Given the description of an element on the screen output the (x, y) to click on. 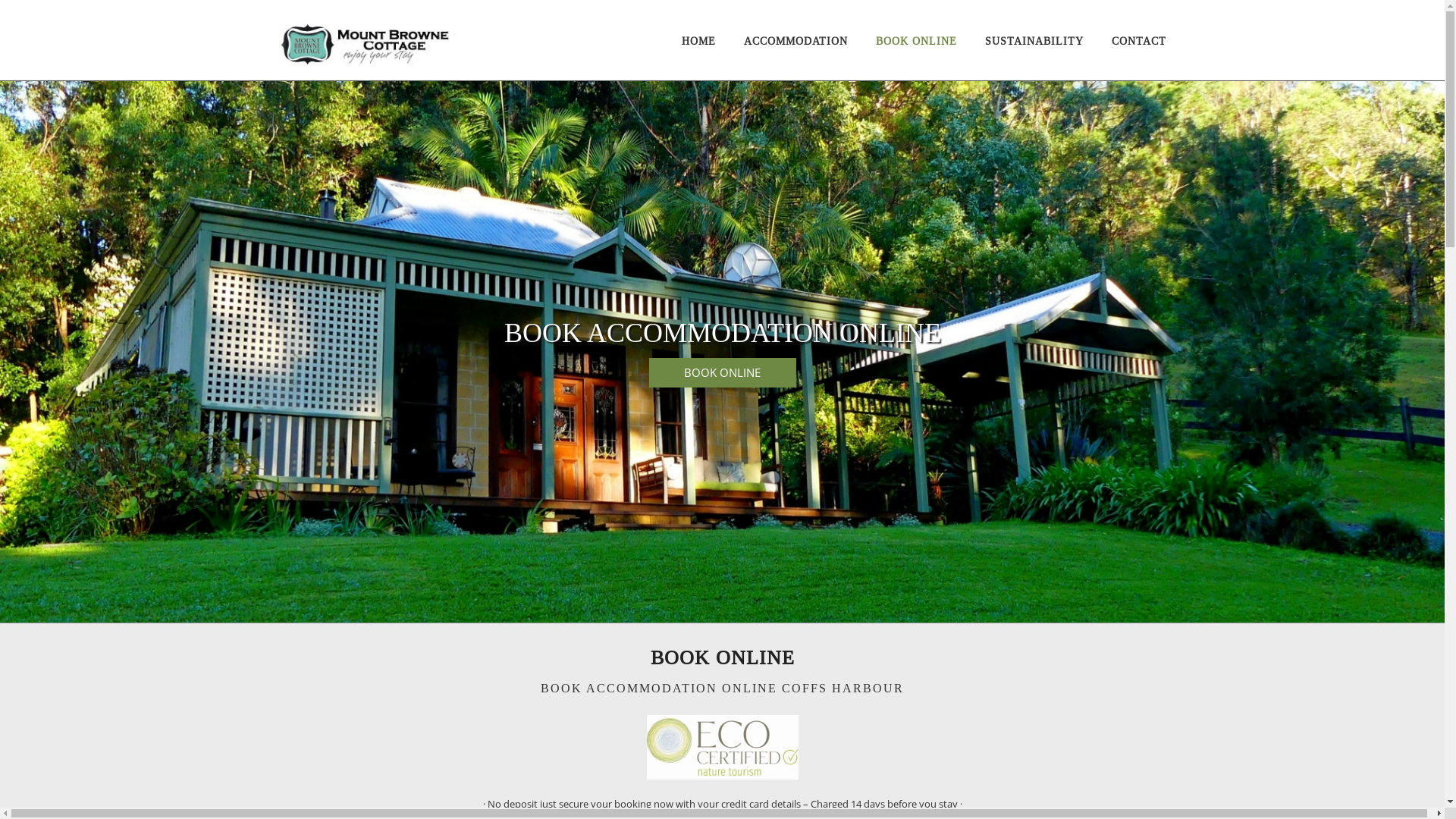
ACCOMMODATION Element type: text (795, 40)
SUSTAINABILITY Element type: text (1033, 40)
HOME Element type: text (697, 40)
CONTACT Element type: text (1138, 40)
BOOK ONLINE Element type: text (915, 40)
BOOK ONLINE Element type: text (722, 372)
